Given the description of an element on the screen output the (x, y) to click on. 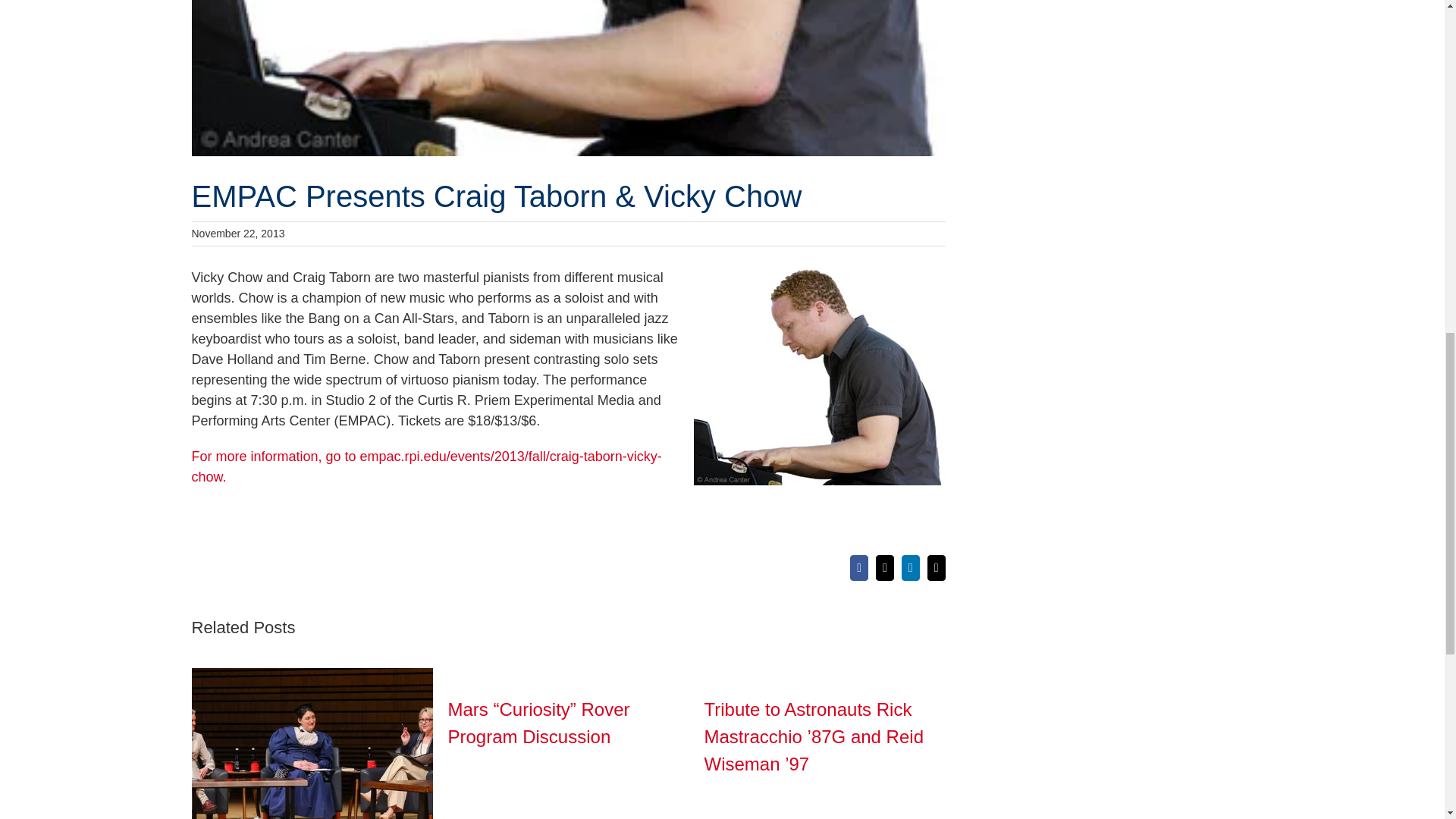
View Larger Image (567, 78)
Facebook (858, 567)
X (884, 567)
